Given the description of an element on the screen output the (x, y) to click on. 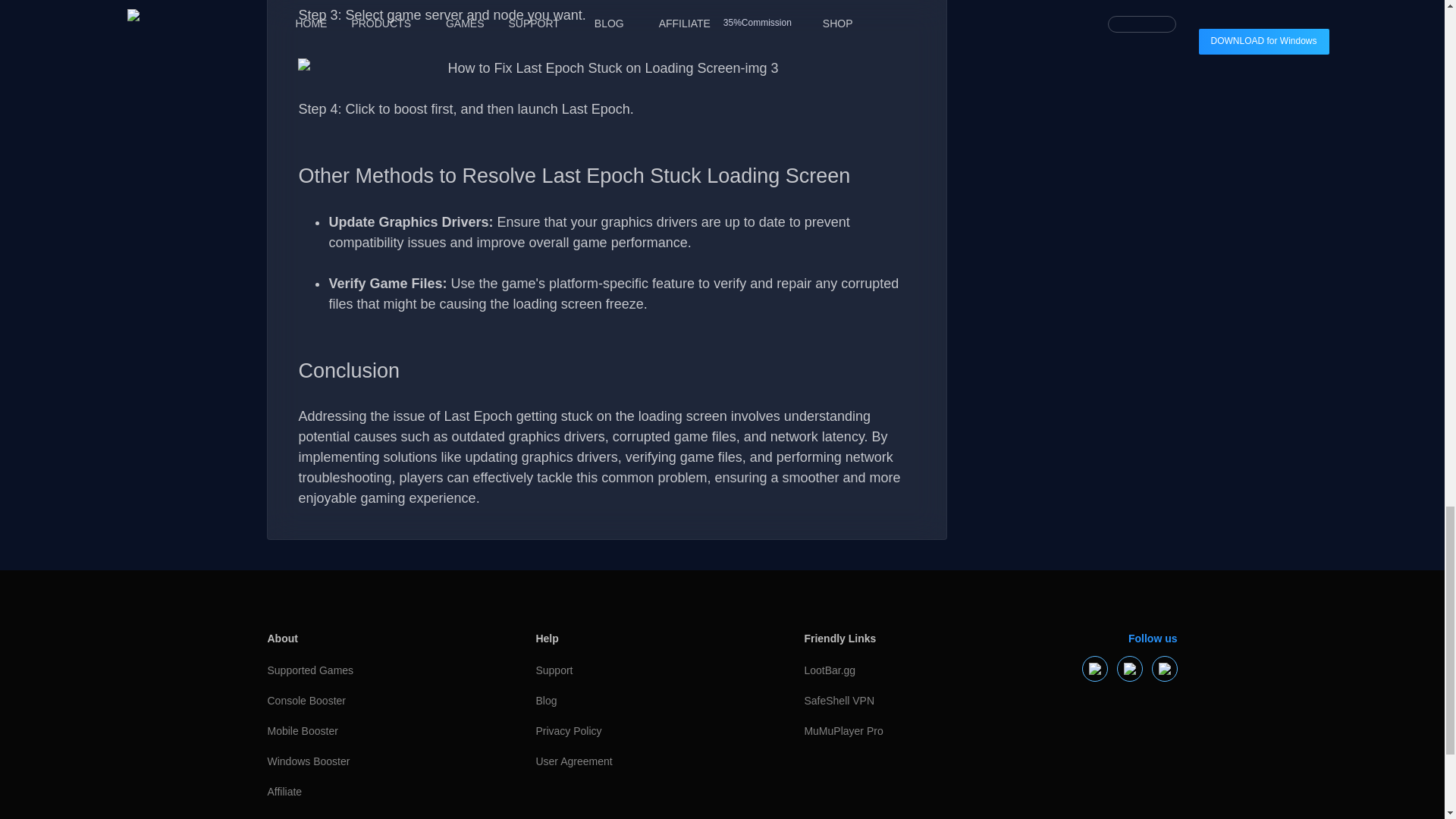
Windows Booster (373, 761)
LootBar.gg (910, 671)
Mobile Booster (373, 731)
Supported Games (373, 671)
SafeShell VPN (910, 701)
Affiliate (373, 792)
Privacy Policy (642, 731)
Console Booster (373, 701)
MuMuPlayer Pro (910, 731)
Support (642, 671)
